Given the description of an element on the screen output the (x, y) to click on. 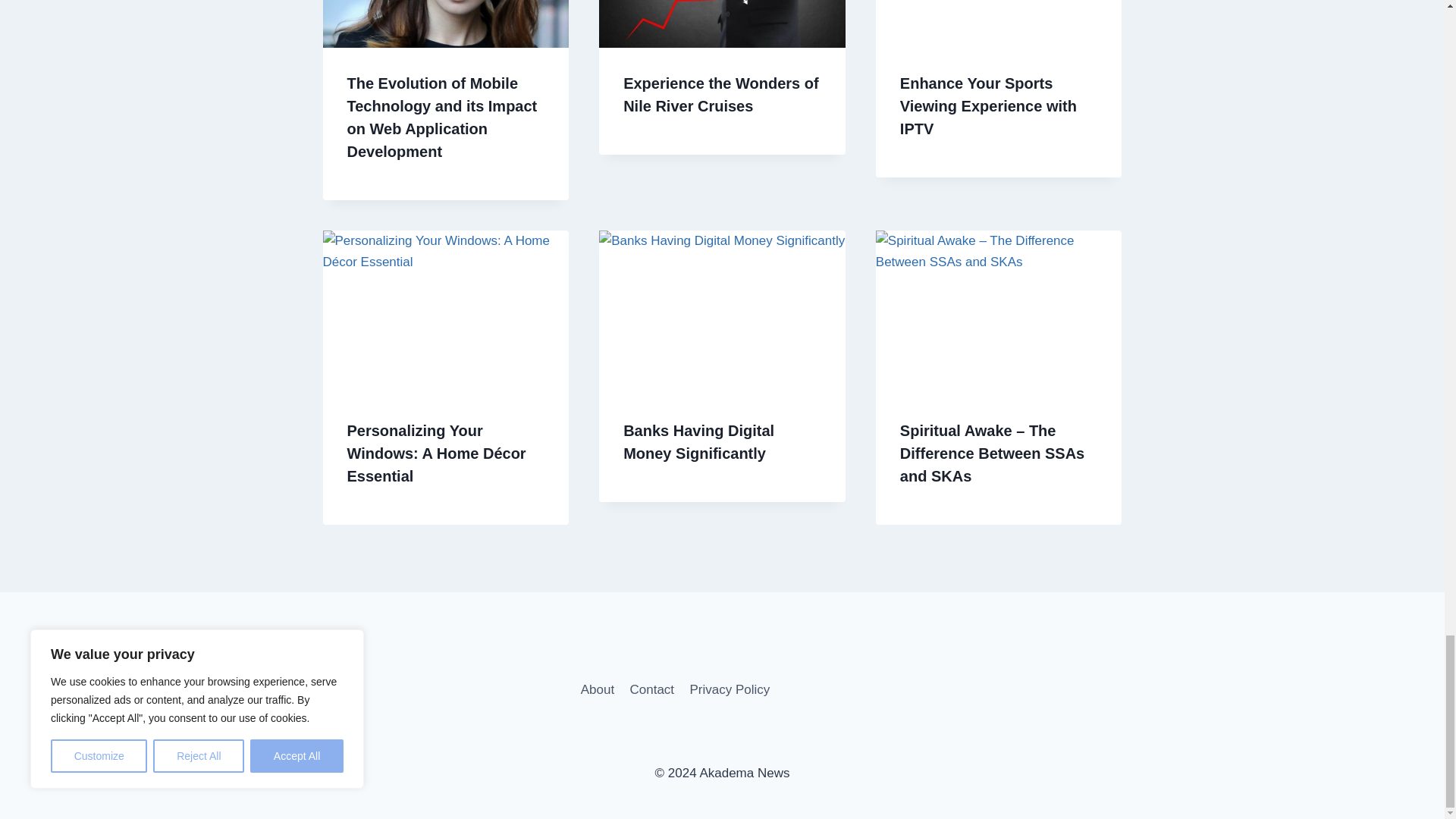
Experience the Wonders of Nile River Cruises (720, 94)
